Given the description of an element on the screen output the (x, y) to click on. 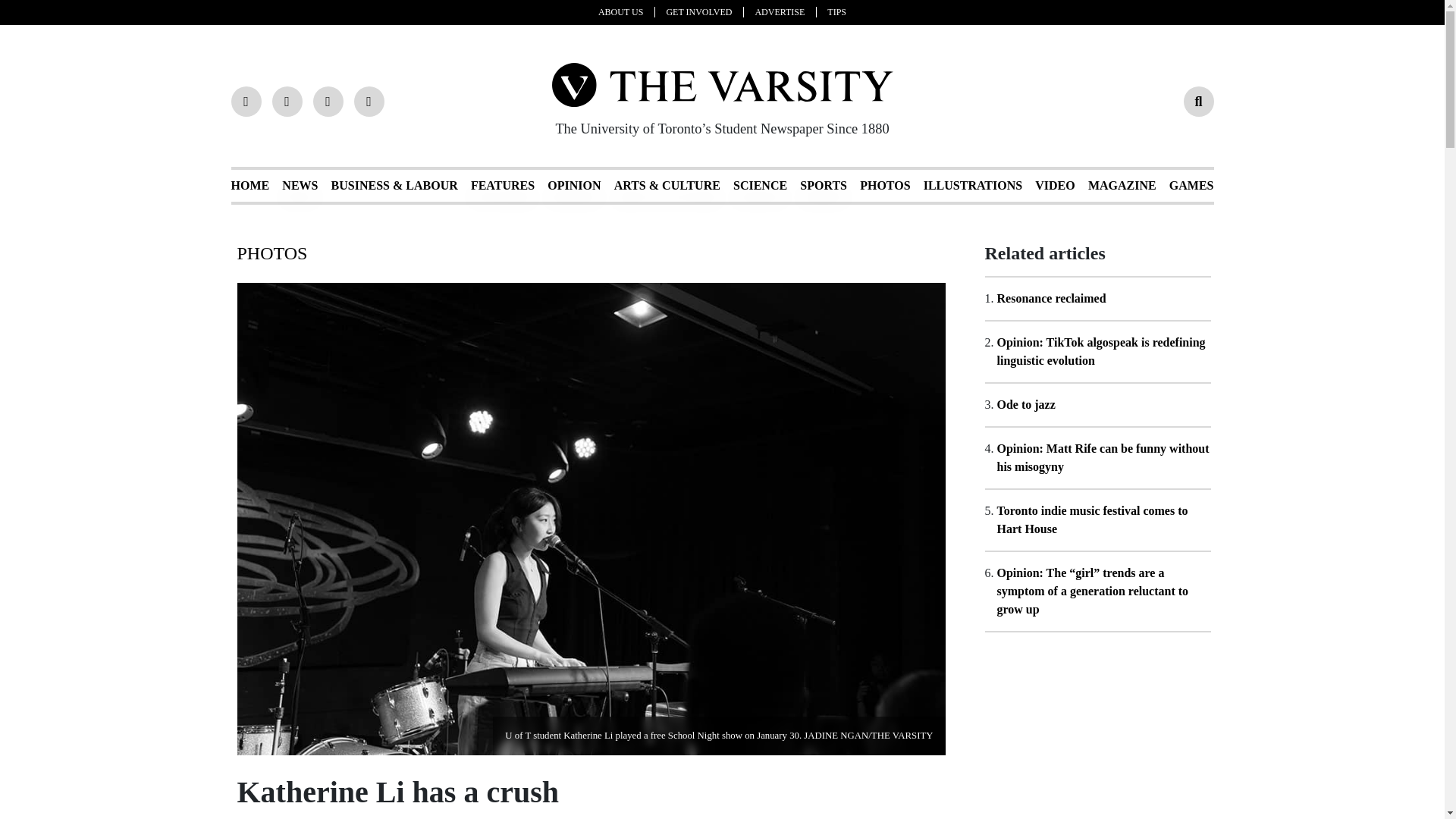
Opinion: TikTok algospeak is redefining linguistic evolution (1100, 350)
TIPS (836, 11)
GET INVOLVED (704, 11)
ADVERTISE (785, 11)
Ode to jazz (1024, 404)
ABOUT US (626, 11)
Resonance reclaimed (1050, 297)
Opinion: Matt Rife can be funny without his misogyny (1101, 457)
Toronto indie music festival comes to Hart House (1091, 519)
